Given the description of an element on the screen output the (x, y) to click on. 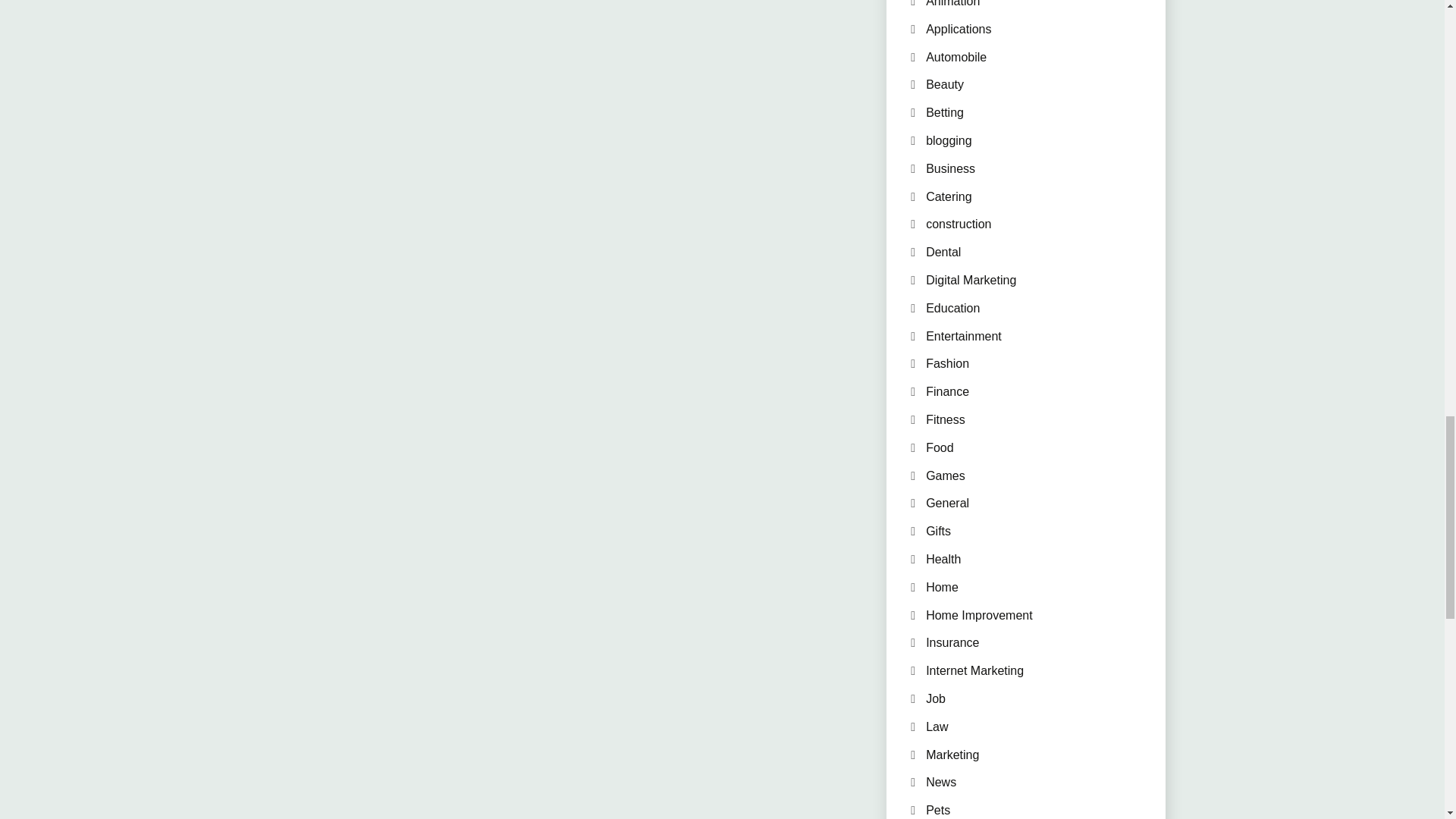
Animation (952, 3)
Applications (958, 29)
Automobile (956, 56)
